Given the description of an element on the screen output the (x, y) to click on. 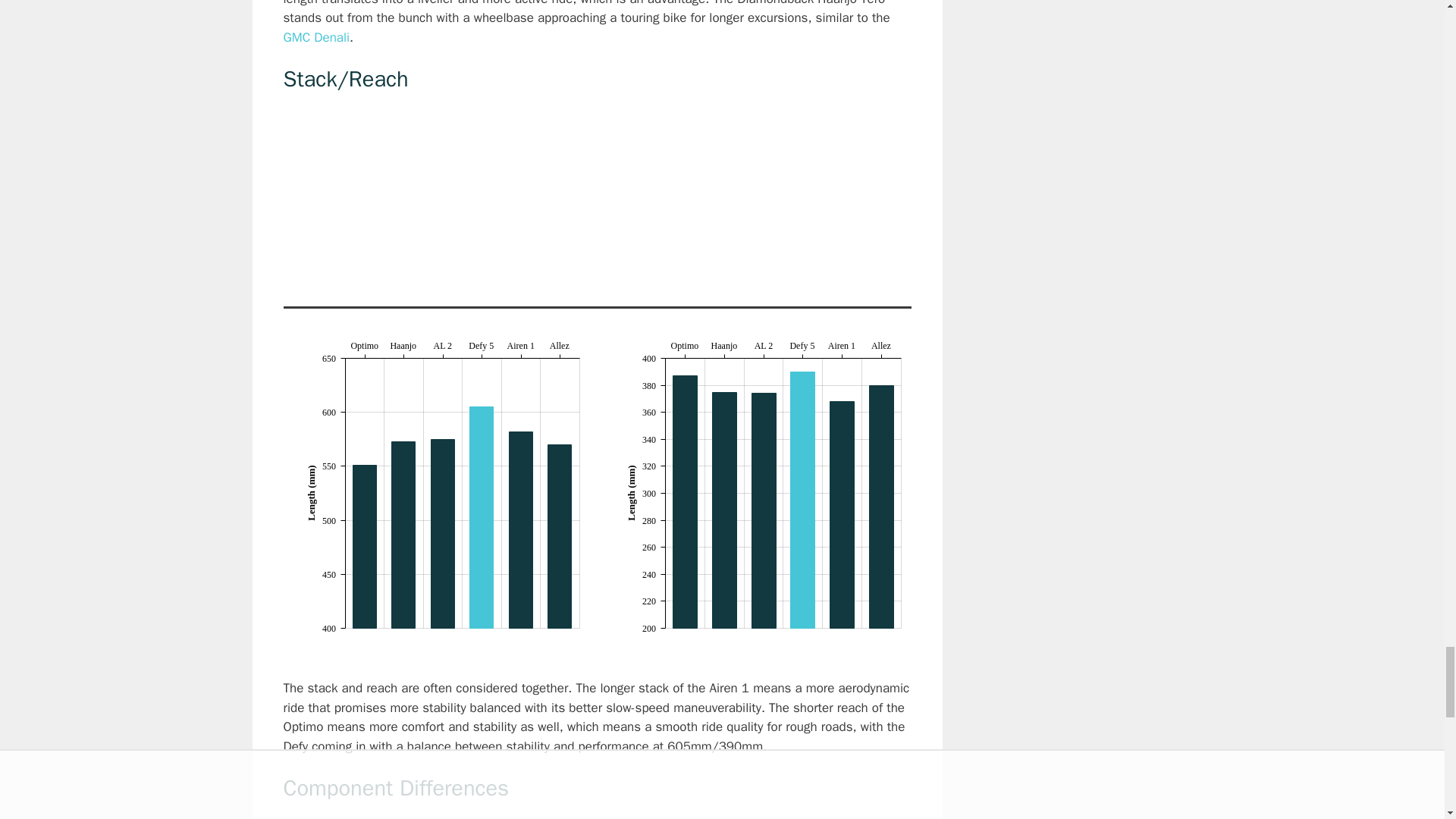
GMC Denali (316, 37)
